Given the description of an element on the screen output the (x, y) to click on. 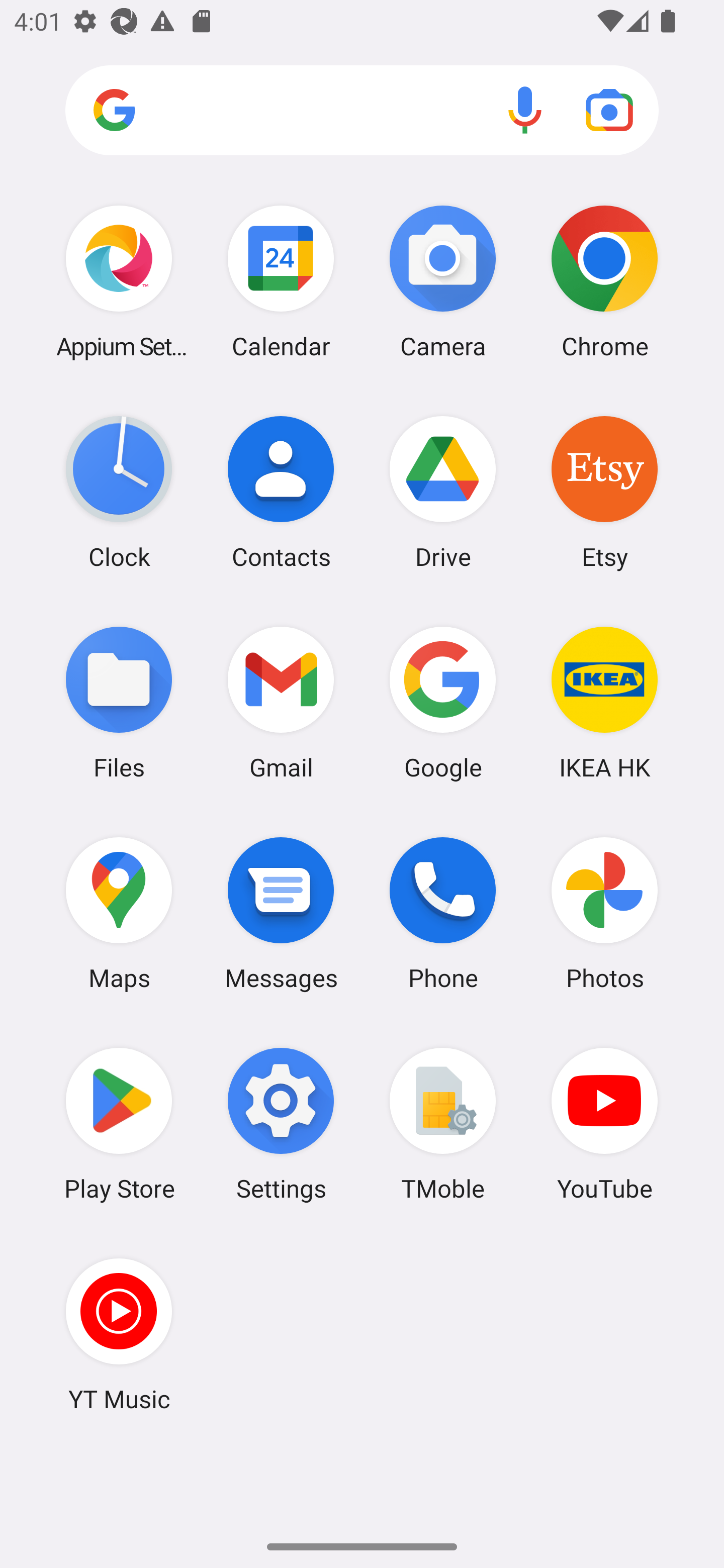
Search apps, web and more (361, 110)
Voice search (524, 109)
Google Lens (608, 109)
Appium Settings (118, 281)
Calendar (280, 281)
Camera (443, 281)
Chrome (604, 281)
Clock (118, 492)
Contacts (280, 492)
Drive (443, 492)
Etsy (604, 492)
Files (118, 702)
Gmail (280, 702)
Google (443, 702)
IKEA HK (604, 702)
Maps (118, 913)
Messages (280, 913)
Phone (443, 913)
Photos (604, 913)
Play Store (118, 1124)
Settings (280, 1124)
TMoble (443, 1124)
YouTube (604, 1124)
YT Music (118, 1334)
